Given the description of an element on the screen output the (x, y) to click on. 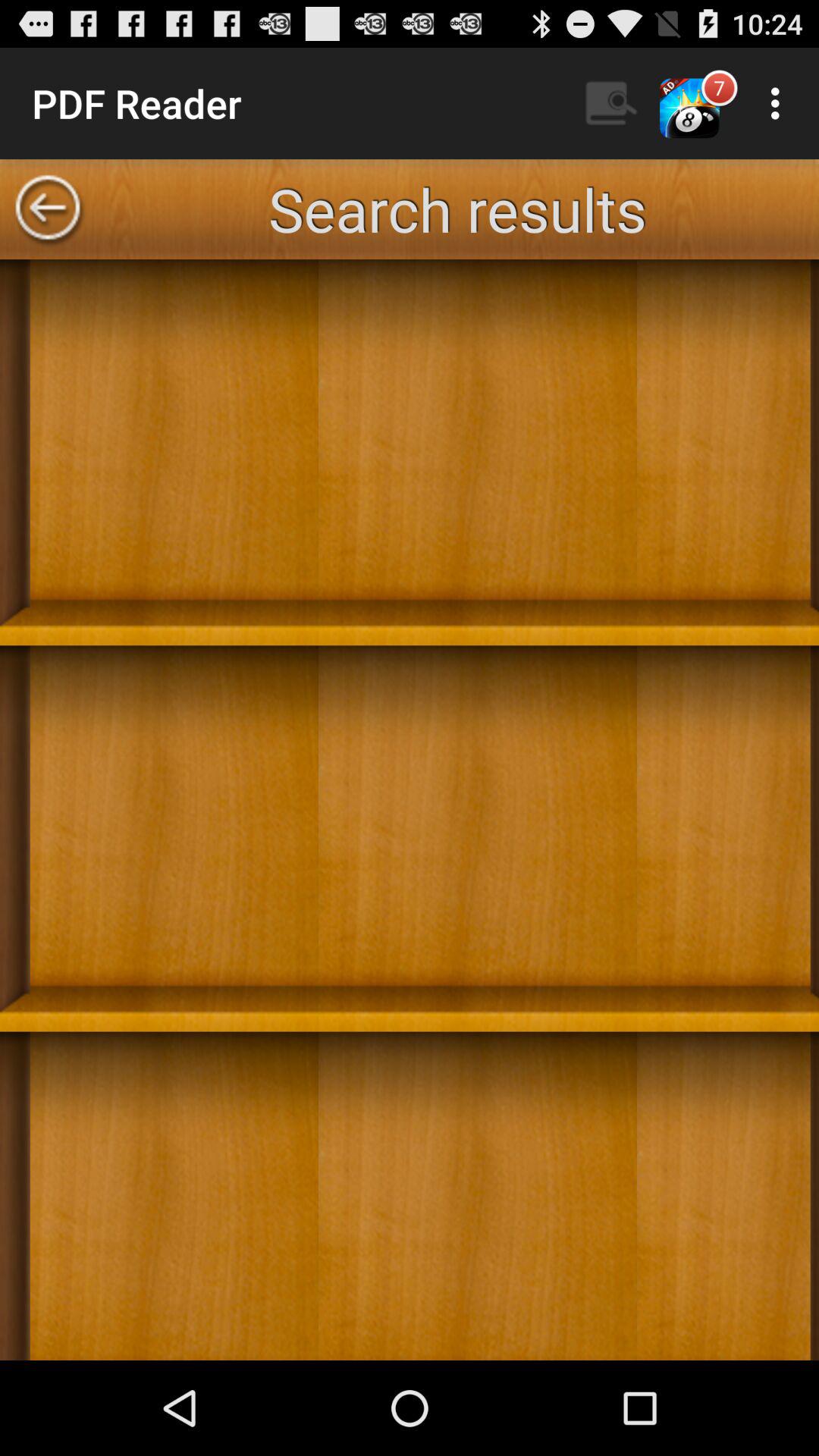
press search results item (457, 209)
